Given the description of an element on the screen output the (x, y) to click on. 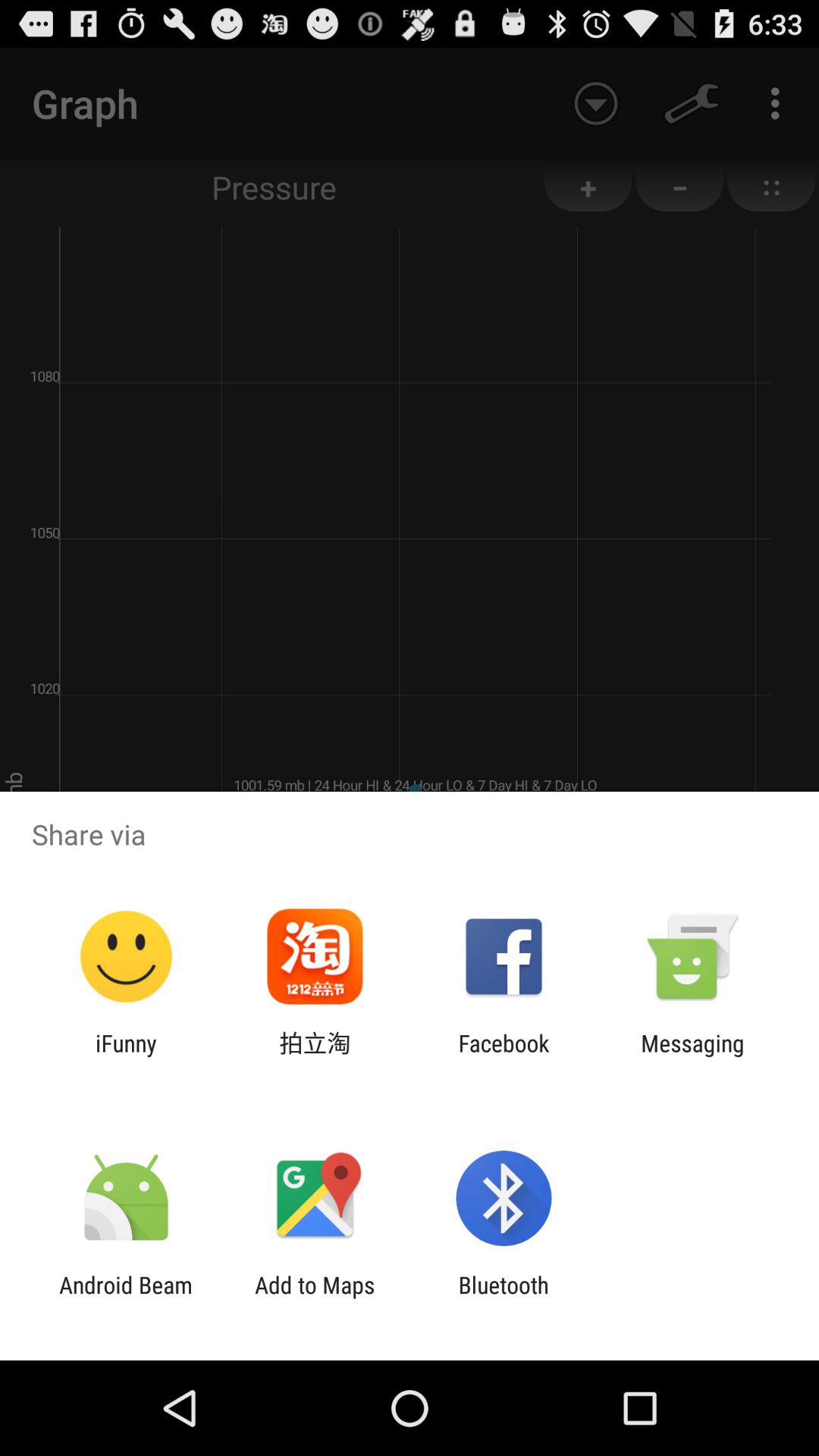
turn on item next to add to maps app (125, 1298)
